Given the description of an element on the screen output the (x, y) to click on. 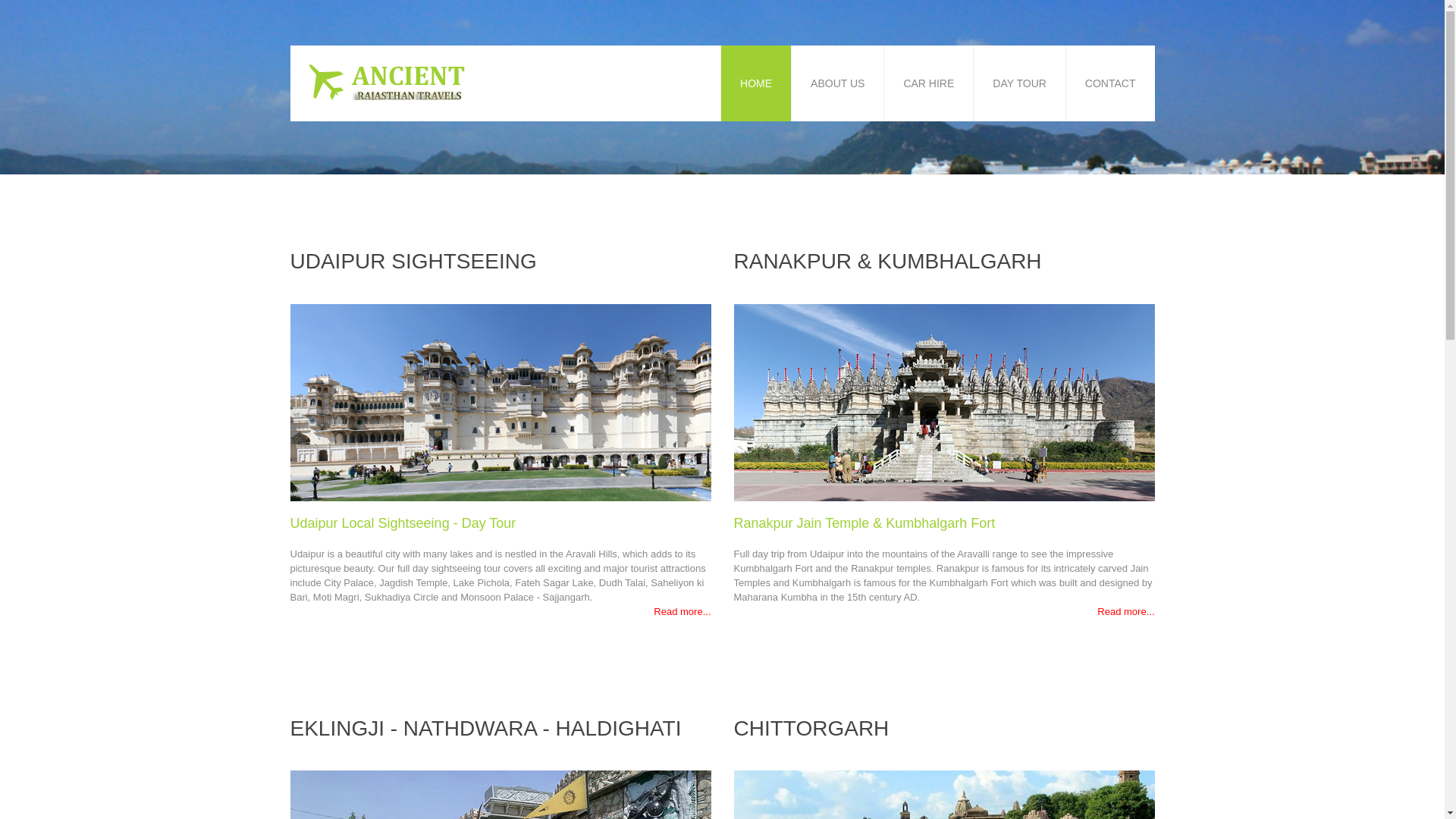
travel html5 template (389, 81)
company (943, 794)
about us (499, 794)
about us (499, 402)
company (943, 402)
Read more... (681, 611)
Read more... (1125, 611)
